Given the description of an element on the screen output the (x, y) to click on. 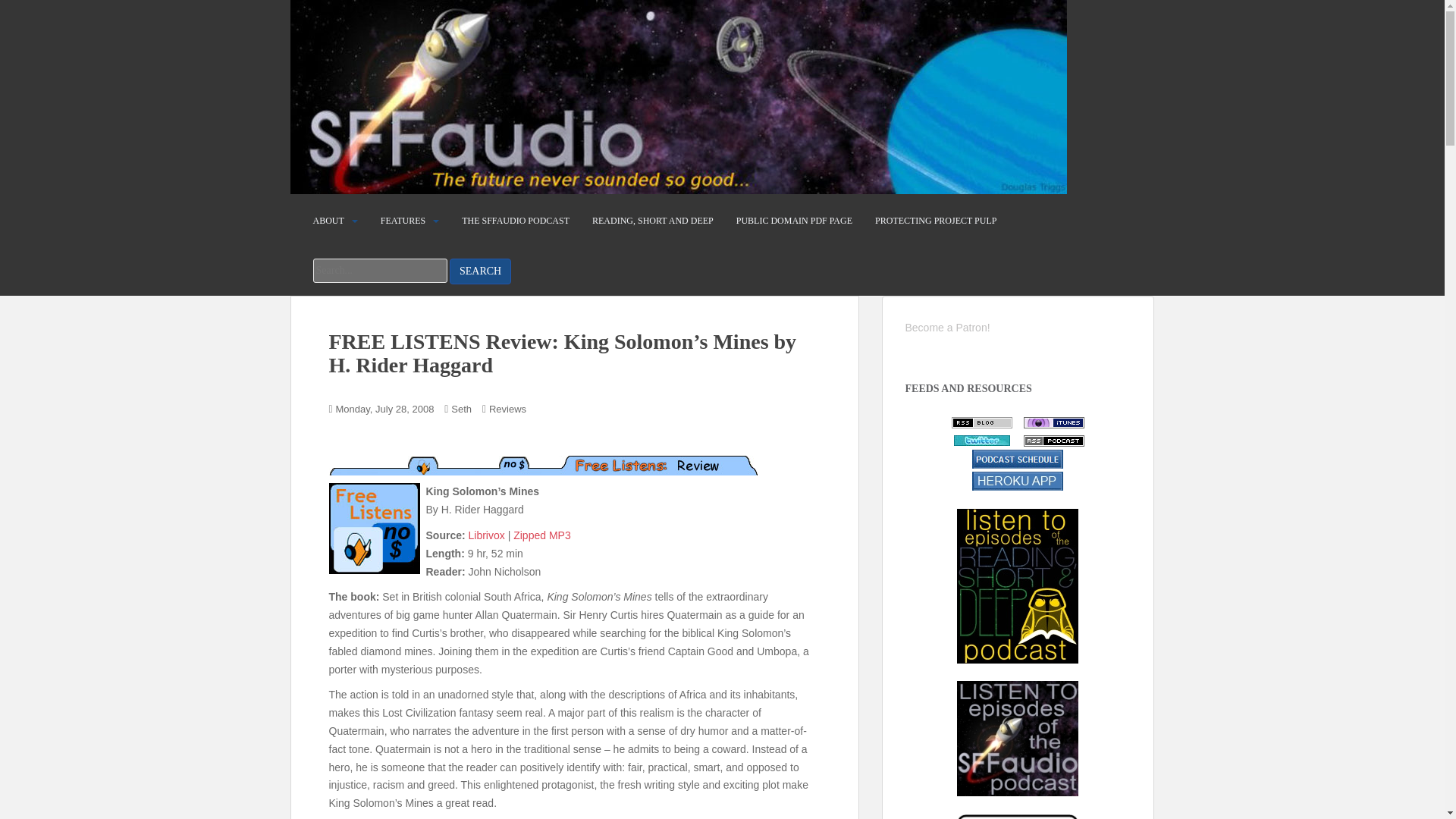
Librivox (486, 535)
Seth (461, 409)
READING, SHORT AND DEEP (652, 220)
PROTECTING PROJECT PULP (935, 220)
THE SFFAUDIO PODCAST (515, 220)
Search (480, 271)
Monday, July 28, 2008 (384, 409)
PUBLIC DOMAIN PDF PAGE (793, 220)
ABOUT (328, 220)
PodcastSchedule (1017, 479)
FEATURES (402, 220)
Search (480, 271)
Zipped MP3 (541, 535)
PodcastSchedule (1017, 458)
Listen To Past Episodes Of The SFFaudio Podcast (1017, 738)
